Given the description of an element on the screen output the (x, y) to click on. 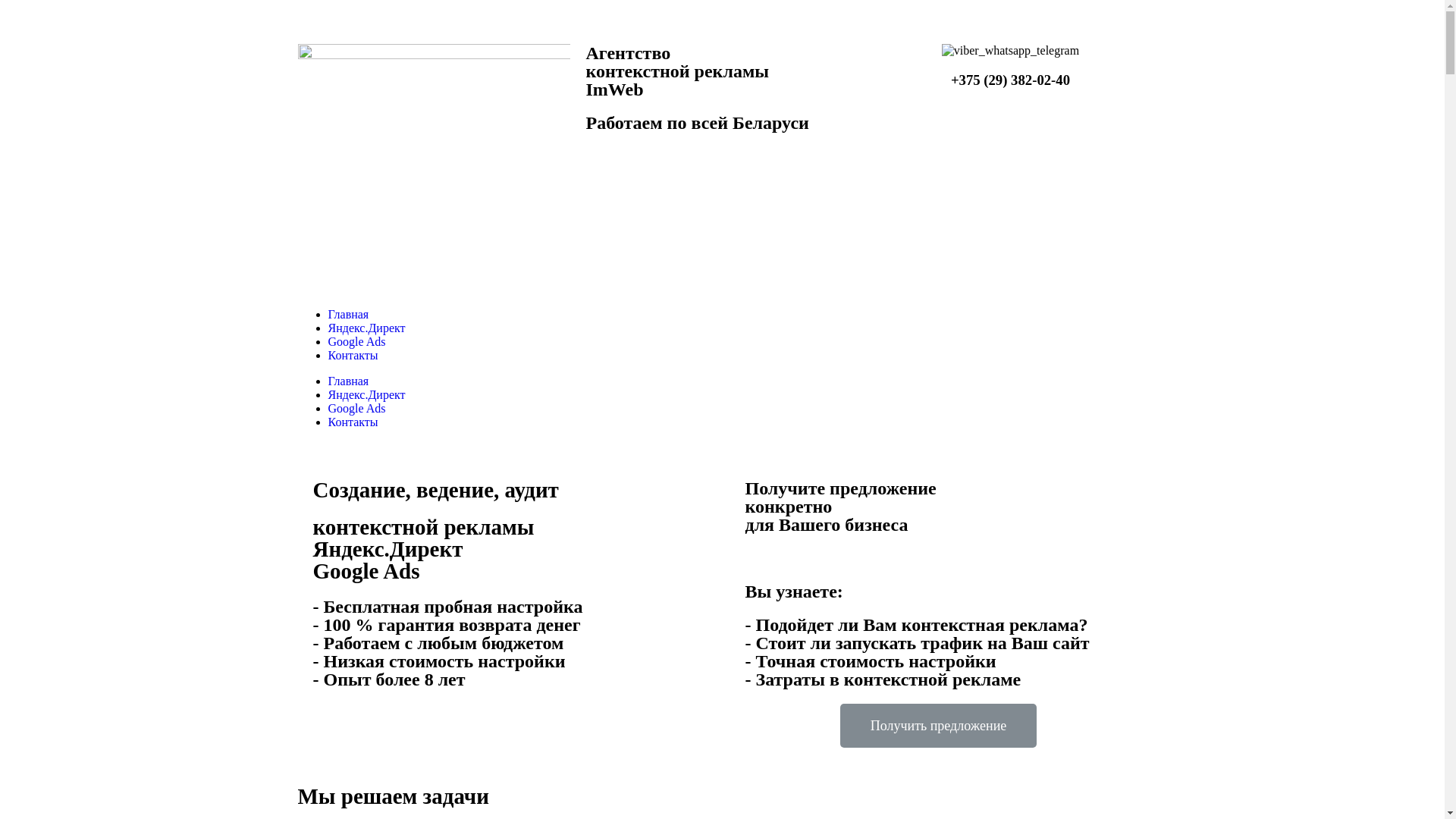
viber_whatsapp_telegram Element type: hover (1010, 50)
Google Ads Element type: text (356, 407)
Google Ads Element type: text (356, 341)
+375 (29) 382-02-40 Element type: text (1010, 79)
